Given the description of an element on the screen output the (x, y) to click on. 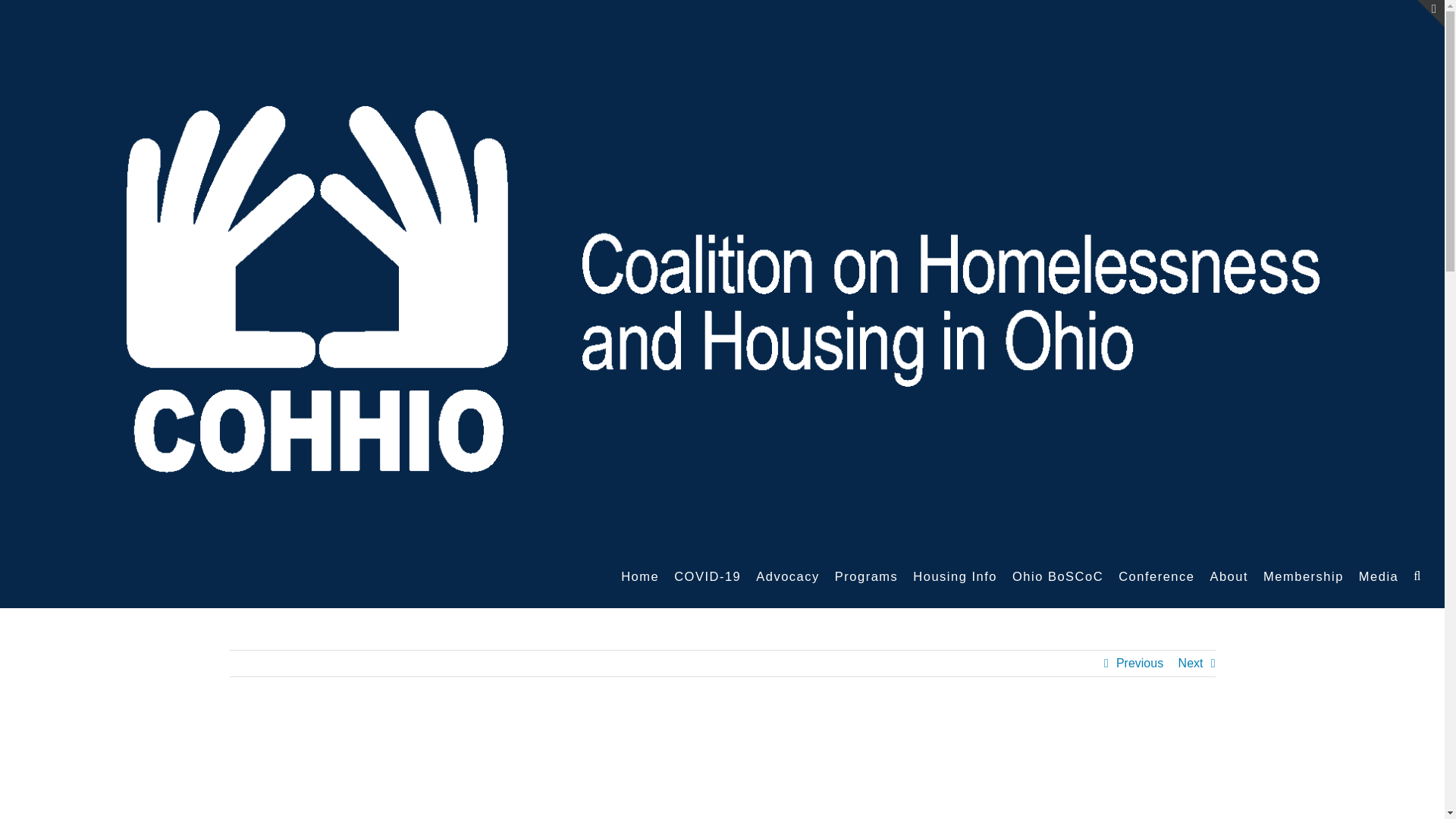
Programs (866, 576)
Housing Info (954, 576)
COVID-19 (707, 576)
Ohio BoSCoC (1057, 576)
Advocacy (787, 576)
